Given the description of an element on the screen output the (x, y) to click on. 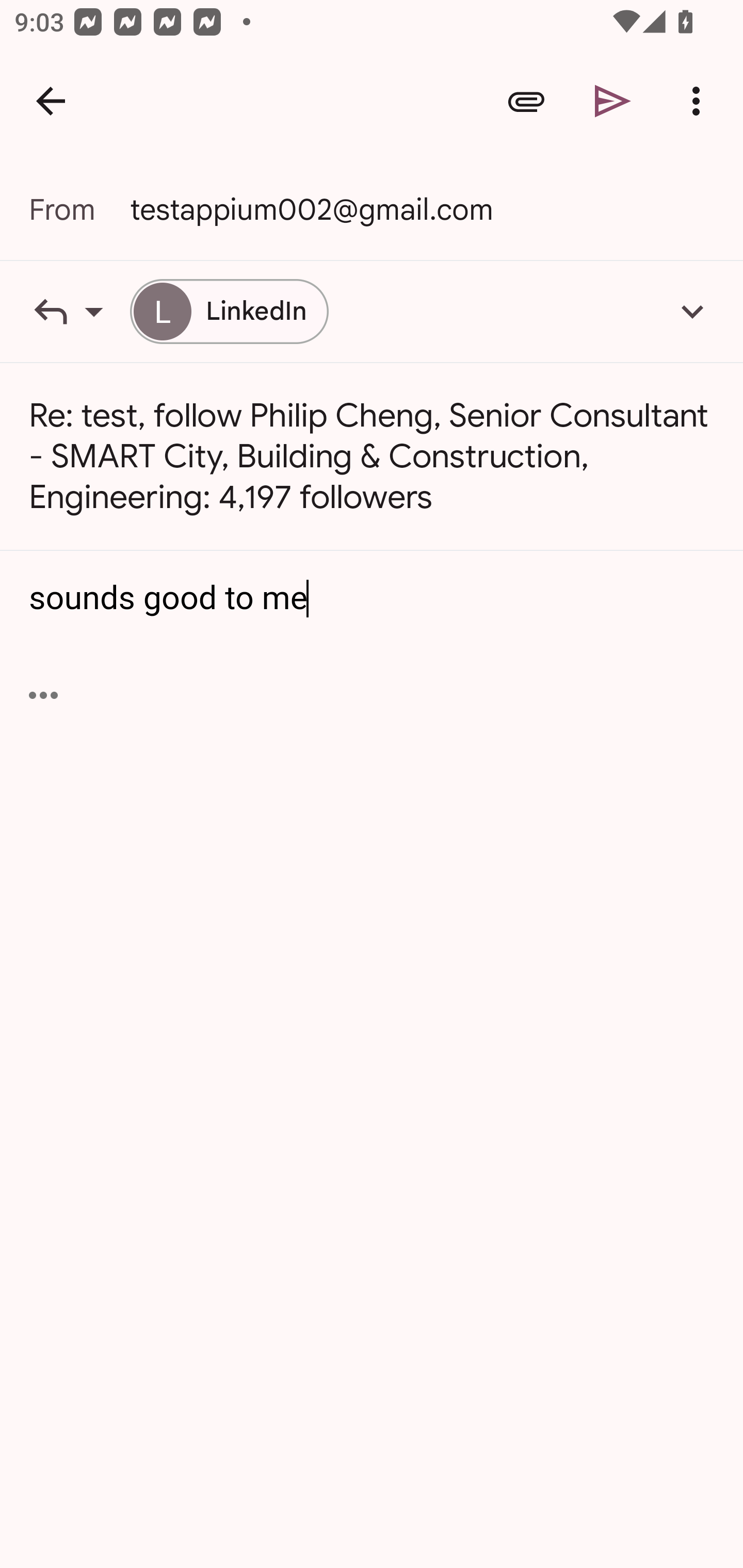
Navigate up (50, 101)
Attach file (525, 101)
Send (612, 101)
More options (699, 101)
From (79, 209)
Reply (79, 311)
Add Cc/Bcc (692, 311)
LinkedIn LinkedIn, messages-noreply@linkedin.com (229, 311)
sounds good to me (372, 598)
Include quoted text (43, 695)
